Given the description of an element on the screen output the (x, y) to click on. 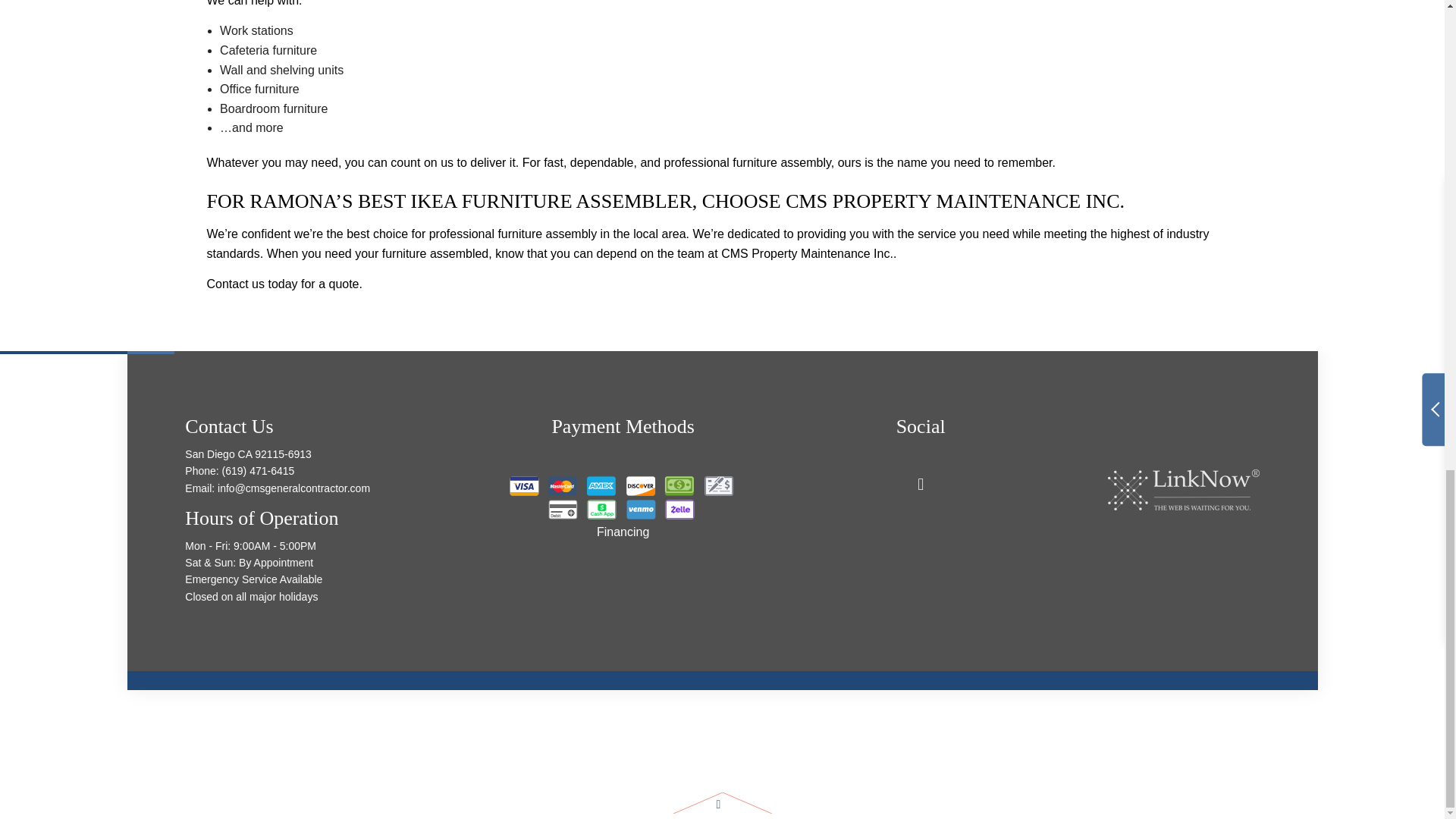
Venmo (640, 509)
Cash (679, 485)
Mastercard (562, 485)
Debit Card (562, 509)
American Express (601, 485)
Visa (524, 485)
Cash App (601, 509)
Zelle (679, 509)
Check (719, 485)
Discover (640, 485)
